Given the description of an element on the screen output the (x, y) to click on. 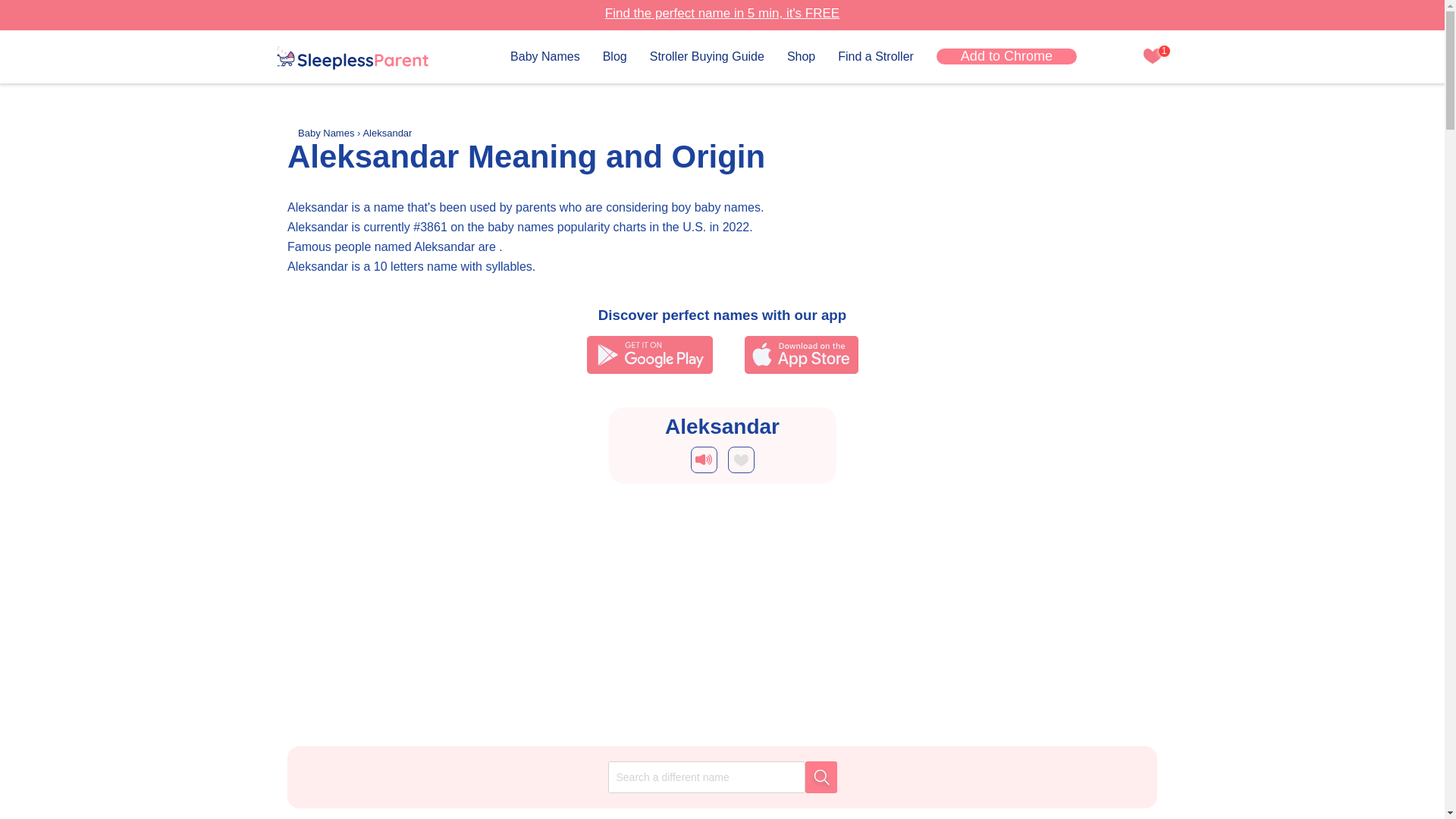
Shop (801, 56)
Blog (614, 56)
Baby Names (545, 56)
Add to Chrome (1006, 56)
Aleksandar (387, 132)
SleeplessParent ios app (801, 354)
Find a Stroller (876, 56)
Add to Chrome (1006, 56)
Stroller Buying Guide (706, 56)
sleeplessparent.com (352, 57)
